Given the description of an element on the screen output the (x, y) to click on. 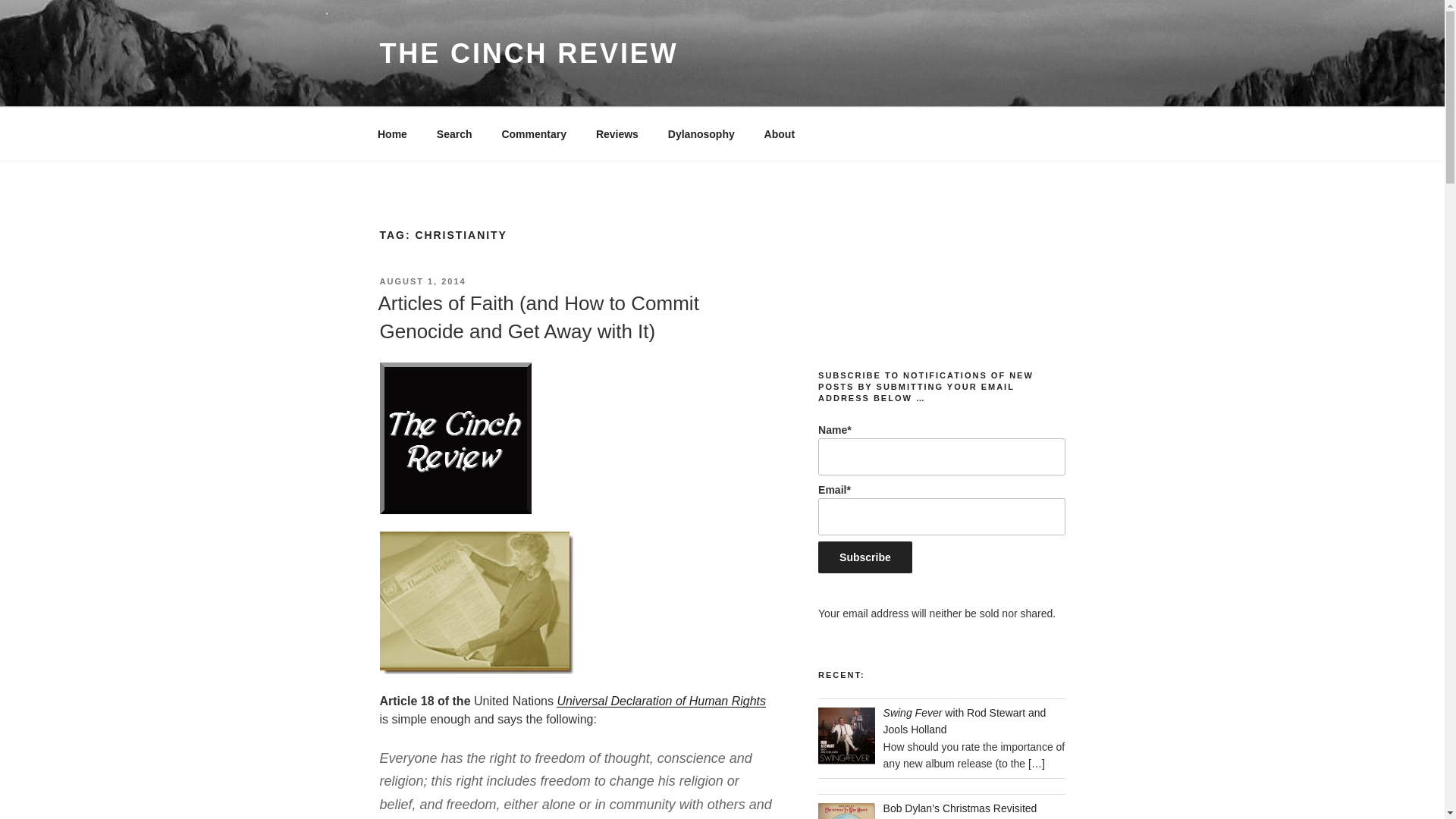
Search (453, 133)
About (779, 133)
Universal Declaration of Human Rights (660, 700)
Home (392, 133)
THE CINCH REVIEW (528, 52)
AUGUST 1, 2014 (421, 280)
Subscribe (865, 557)
Swing Fever with Rod Stewart and Jools Holland (964, 720)
Subscribe (865, 557)
Reviews (616, 133)
Dylanosophy (700, 133)
Commentary (533, 133)
